Given the description of an element on the screen output the (x, y) to click on. 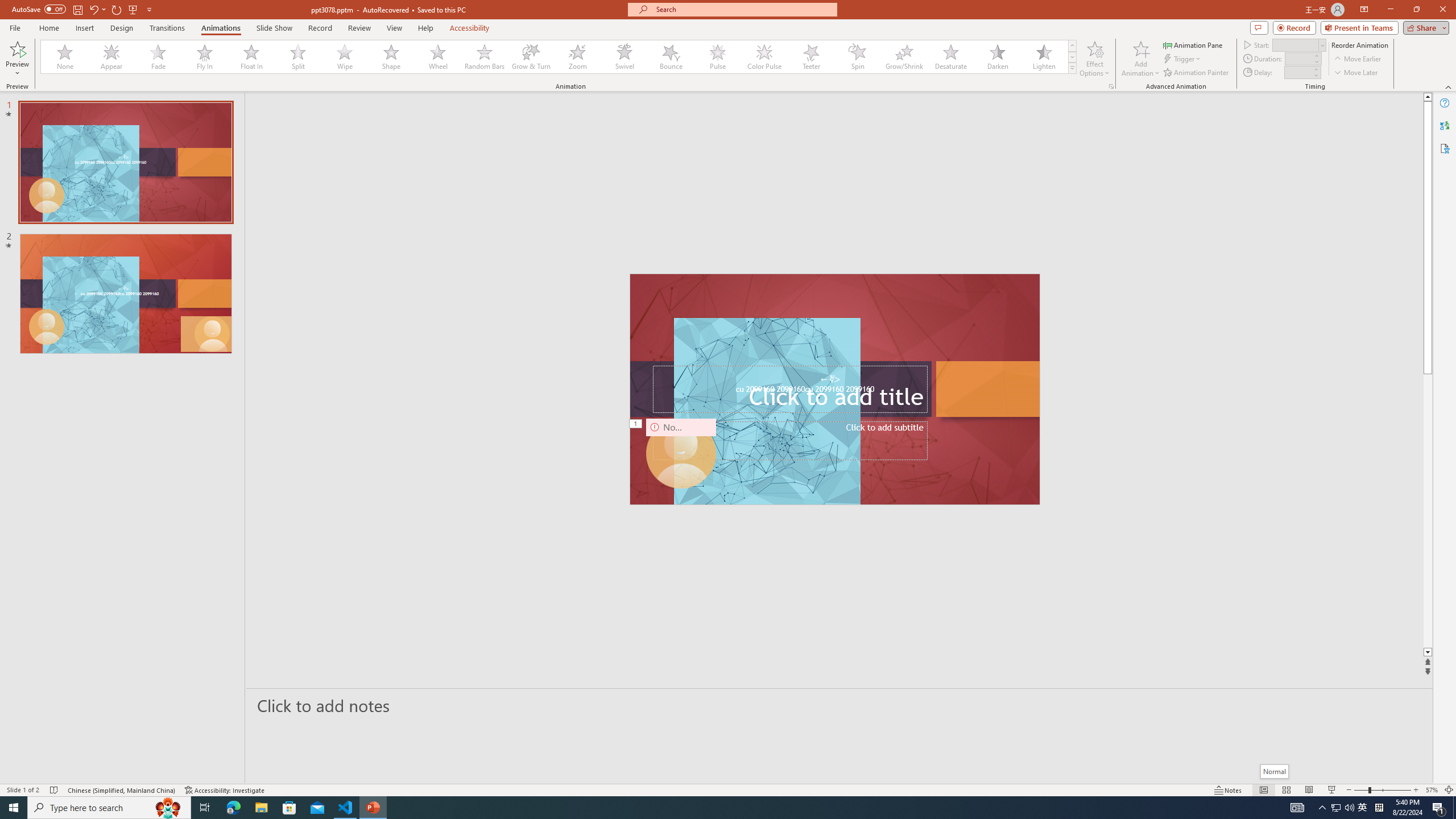
Move Earlier (1357, 58)
Animation Pane (1193, 44)
Animation Duration (1298, 58)
Camera 9, No camera detected. (681, 453)
Spin (857, 56)
